Given the description of an element on the screen output the (x, y) to click on. 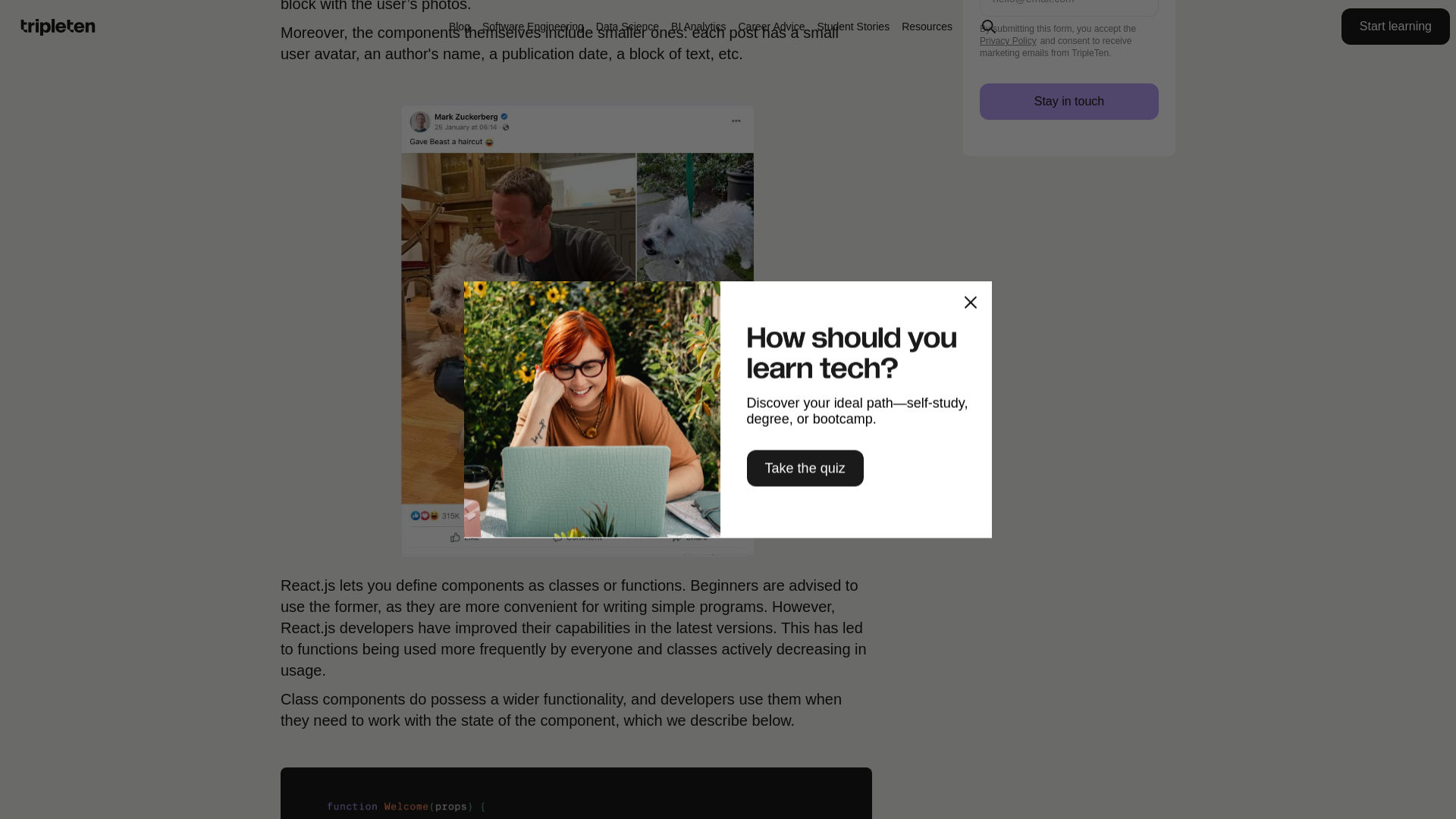
Stay in touch (1068, 101)
